Given the description of an element on the screen output the (x, y) to click on. 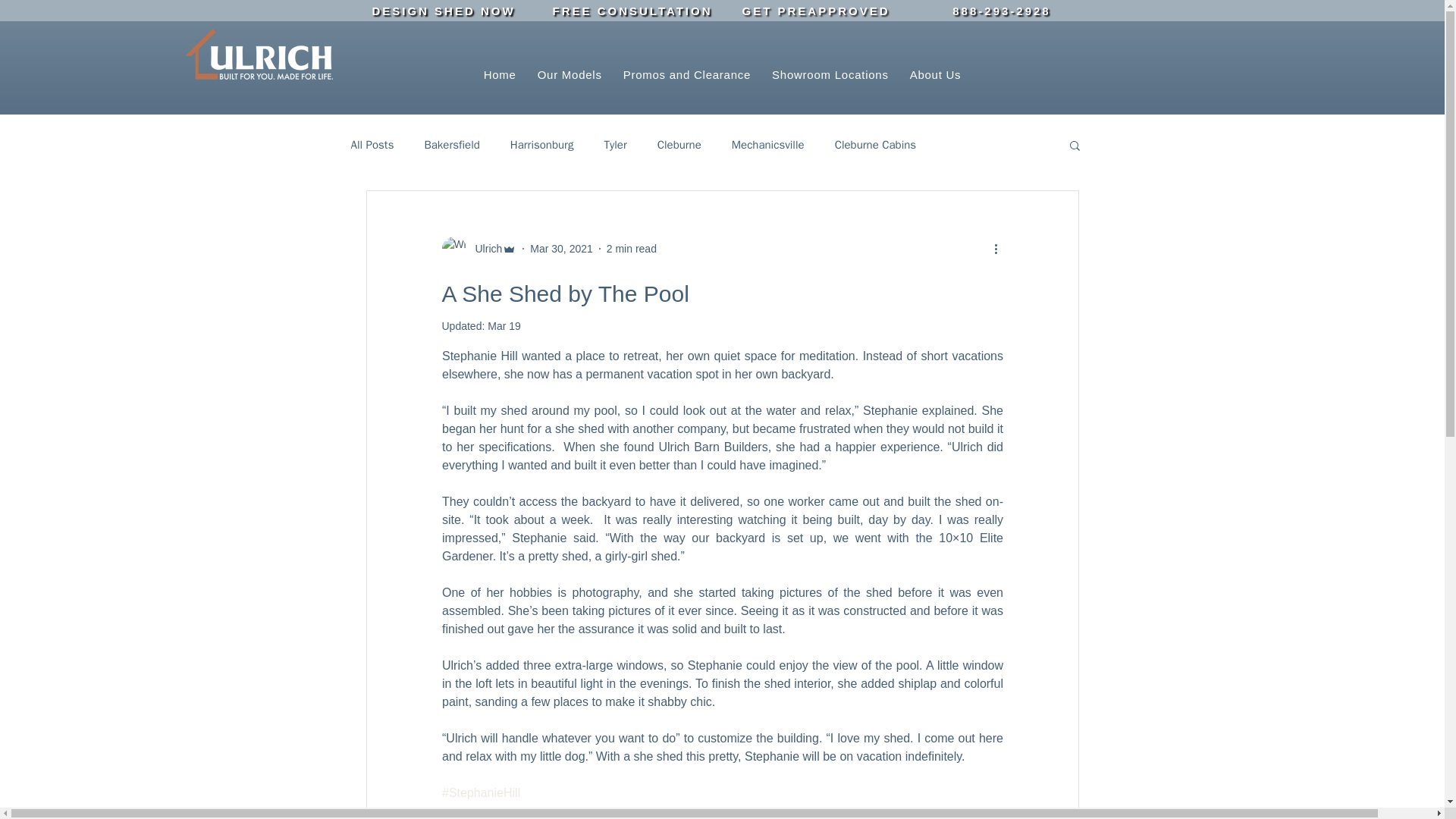
Harrisonburg (542, 145)
GET PREAPPROVED (815, 10)
DESIGN SHED NOW (442, 10)
Tyler (615, 145)
Home (500, 74)
All Posts (371, 145)
Cleburne (679, 145)
Bakersfield (451, 145)
888-293-2928 (1001, 10)
2 min read (631, 248)
Showroom Locations (830, 74)
Cleburne Cabins (875, 145)
Mar 30, 2021 (560, 248)
Ulrich (483, 248)
FREE CONSULTATION (633, 10)
